Given the description of an element on the screen output the (x, y) to click on. 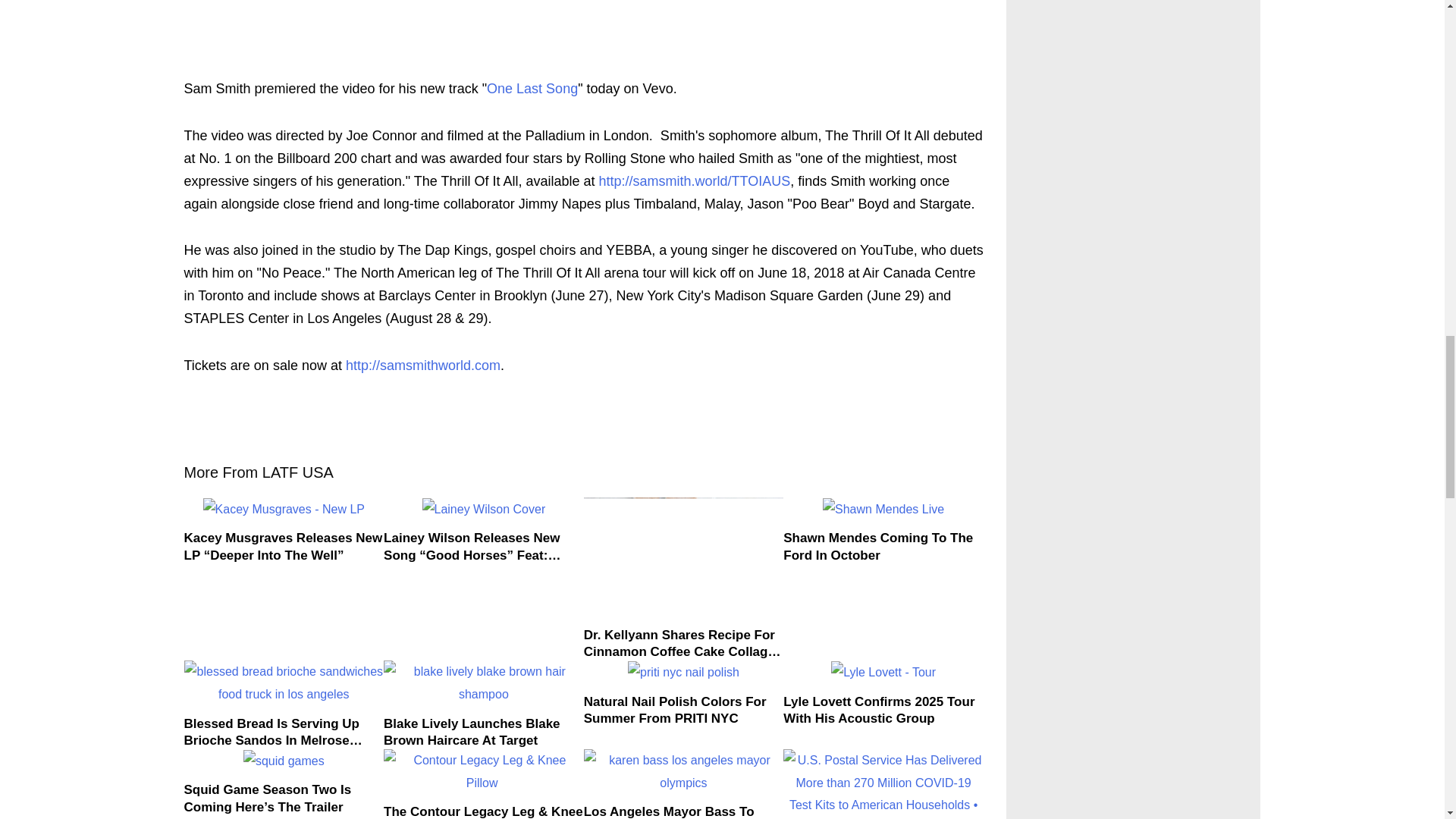
blessed bread brioche sandwiches food truck in los angeles (283, 682)
karen bass los angeles mayor olympics (683, 771)
recipe dr. kellyann cinnamon fat bombs (683, 557)
squid games (283, 761)
Shawn Mendes Live (882, 508)
Lainey Wilson Cover (484, 508)
priti nyc nail polish (683, 671)
blake lively blake brown hair shampoo (483, 682)
